Given the description of an element on the screen output the (x, y) to click on. 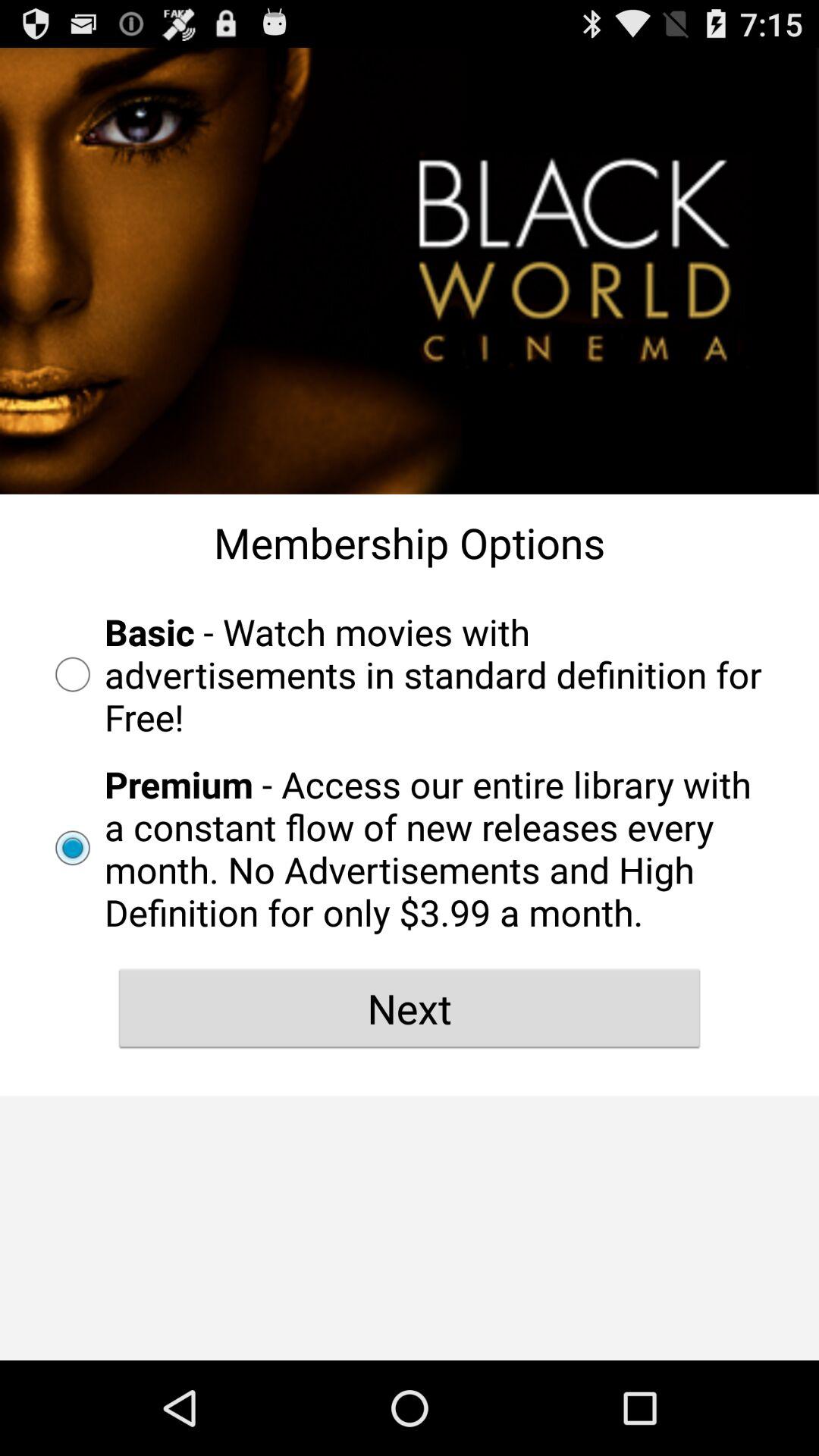
select next icon (409, 1008)
